Given the description of an element on the screen output the (x, y) to click on. 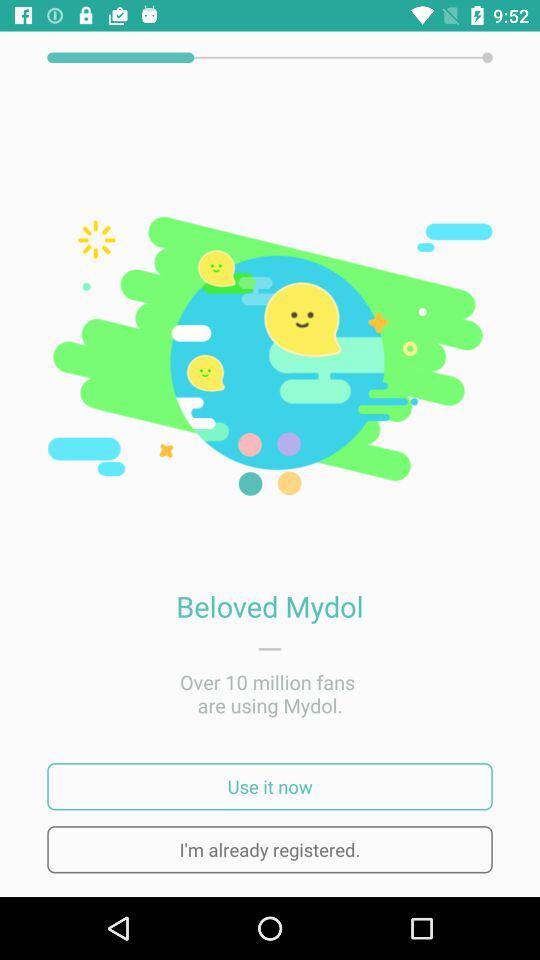
flip to i m already item (269, 849)
